Given the description of an element on the screen output the (x, y) to click on. 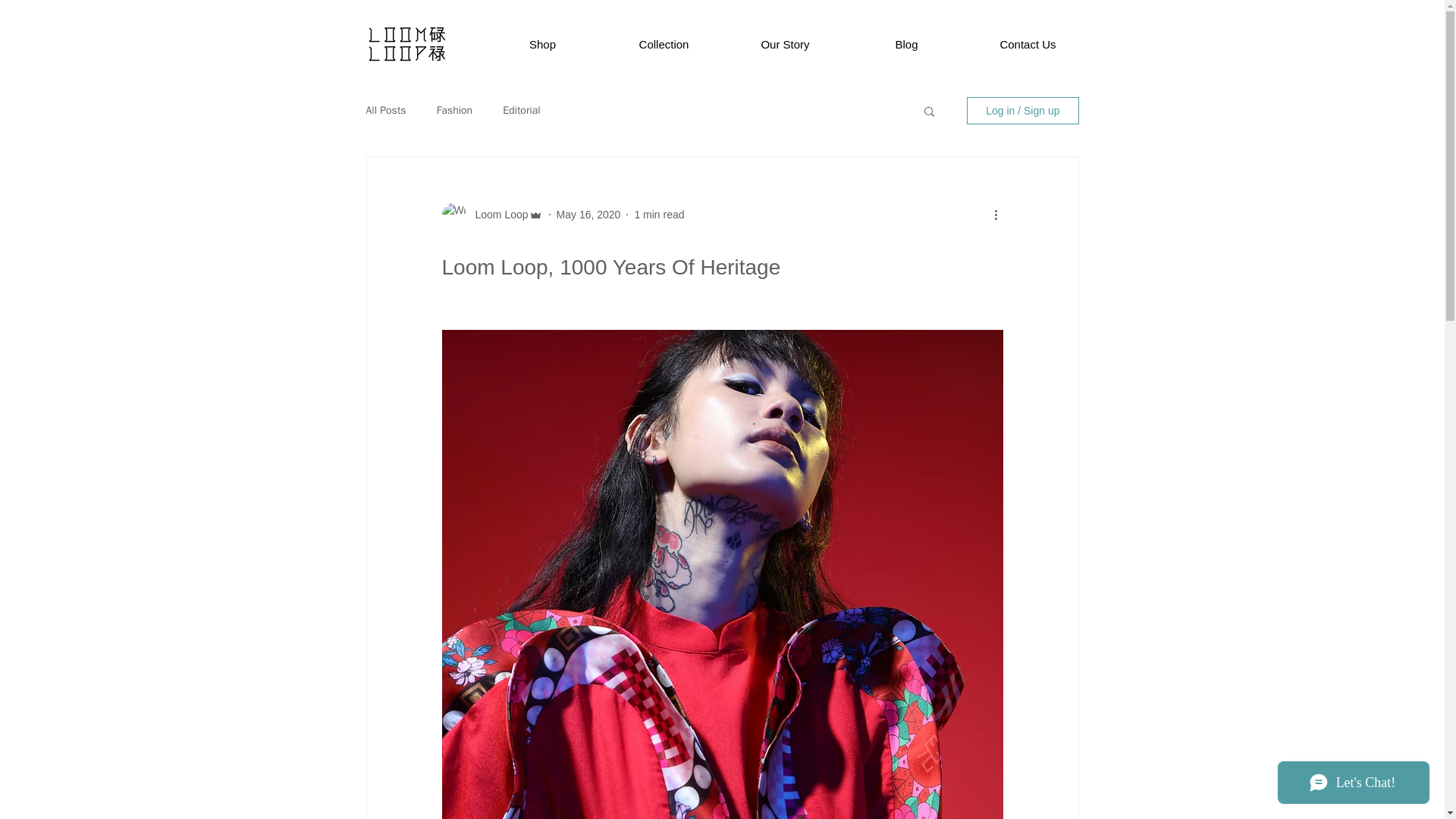
1 min read (658, 214)
All Posts (385, 110)
Collection (664, 43)
Contact Us (1028, 43)
Blog (906, 43)
Editorial (521, 110)
Our Story (785, 43)
May 16, 2020 (588, 214)
Loom Loop (496, 213)
Fashion (454, 110)
